Given the description of an element on the screen output the (x, y) to click on. 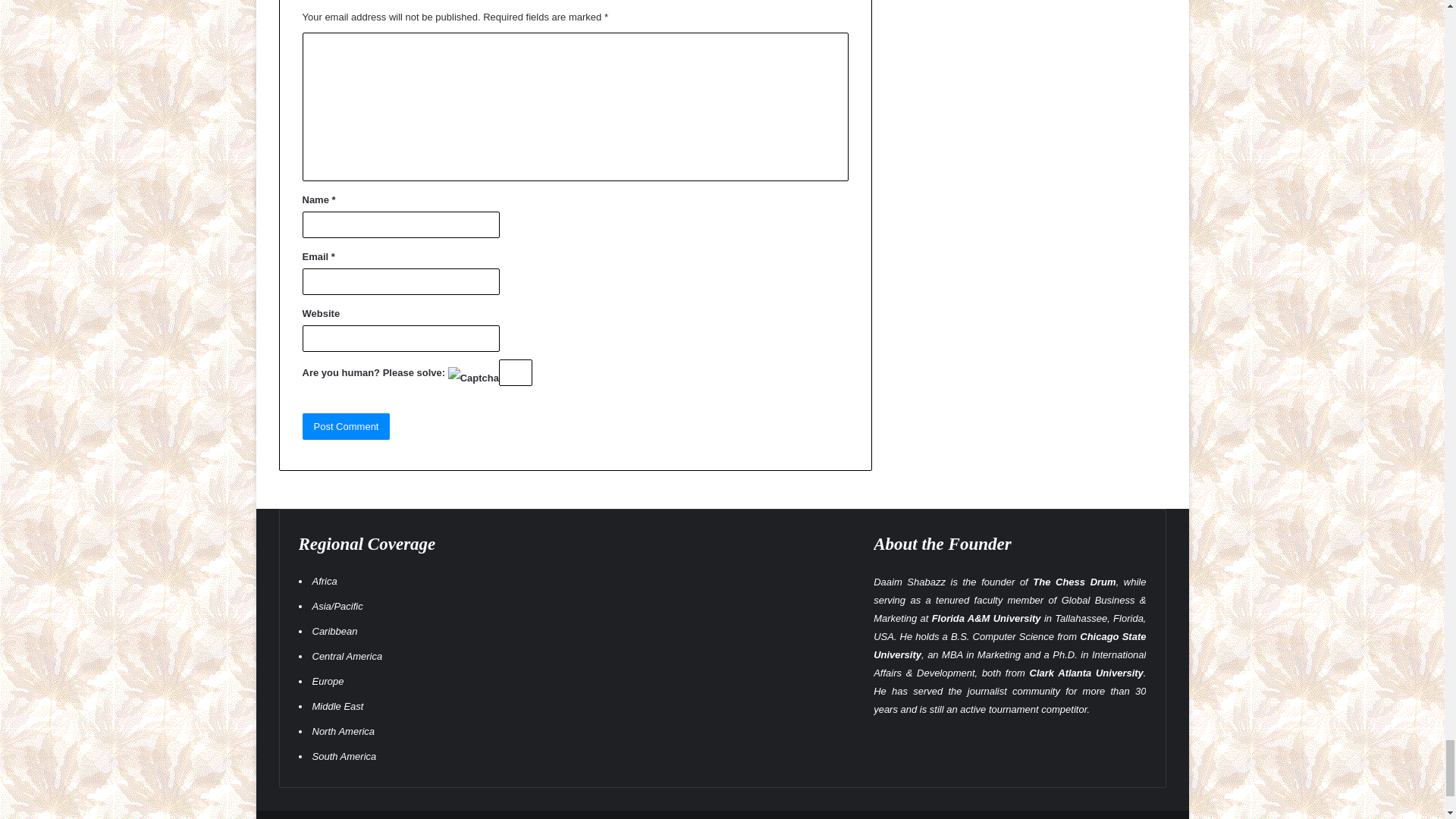
Post Comment (345, 426)
